Given the description of an element on the screen output the (x, y) to click on. 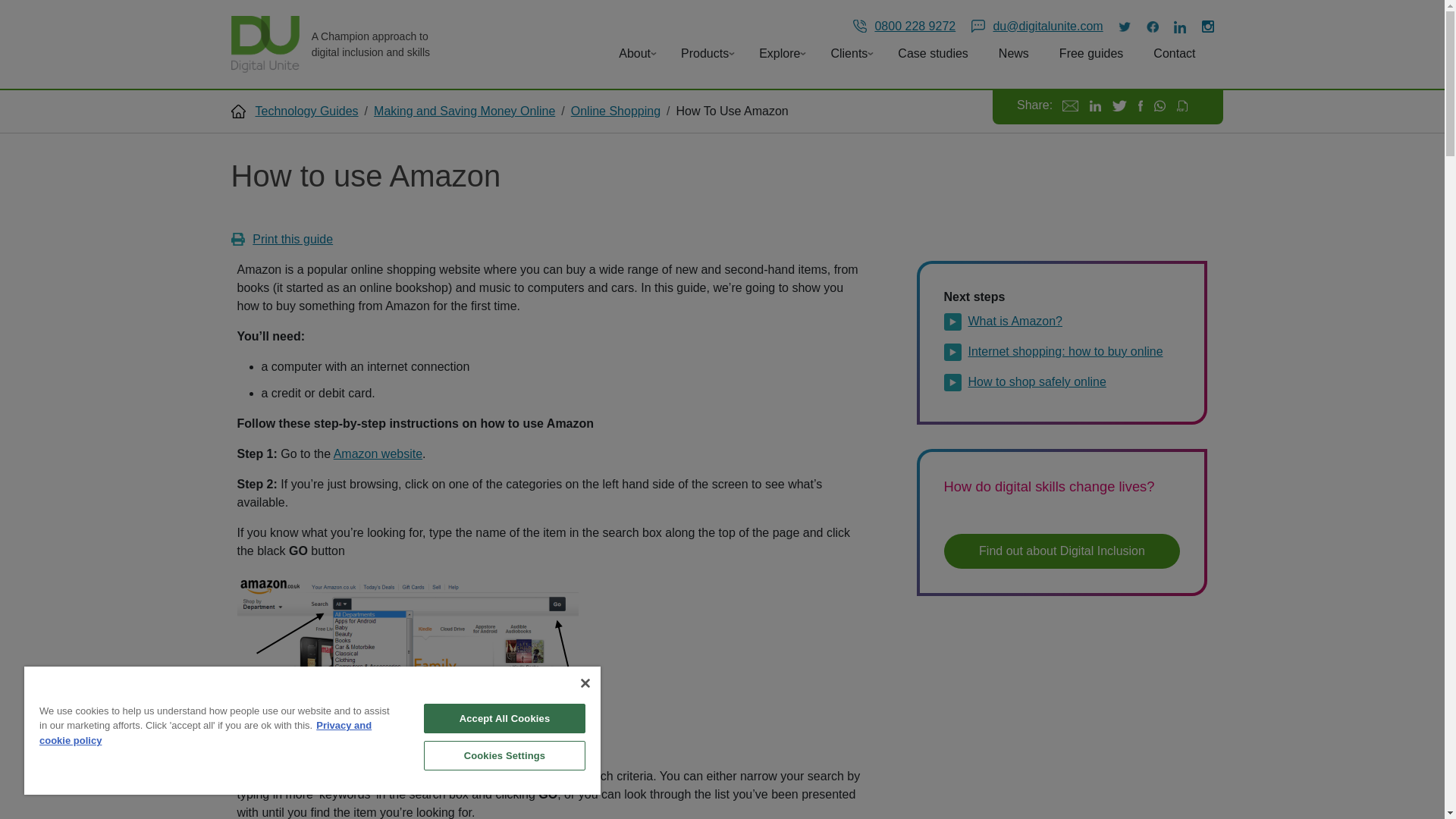
Contact (1176, 53)
Online Shopping (615, 110)
Skip to main content (60, 10)
0800 228 9272 (904, 25)
Home (270, 43)
Try out our products (782, 53)
Making and Saving Money Online (464, 110)
Twitter (1118, 104)
Email (1070, 104)
Free guides (1093, 53)
Technology Guides (306, 110)
Case studies (936, 53)
News (1016, 53)
